Given the description of an element on the screen output the (x, y) to click on. 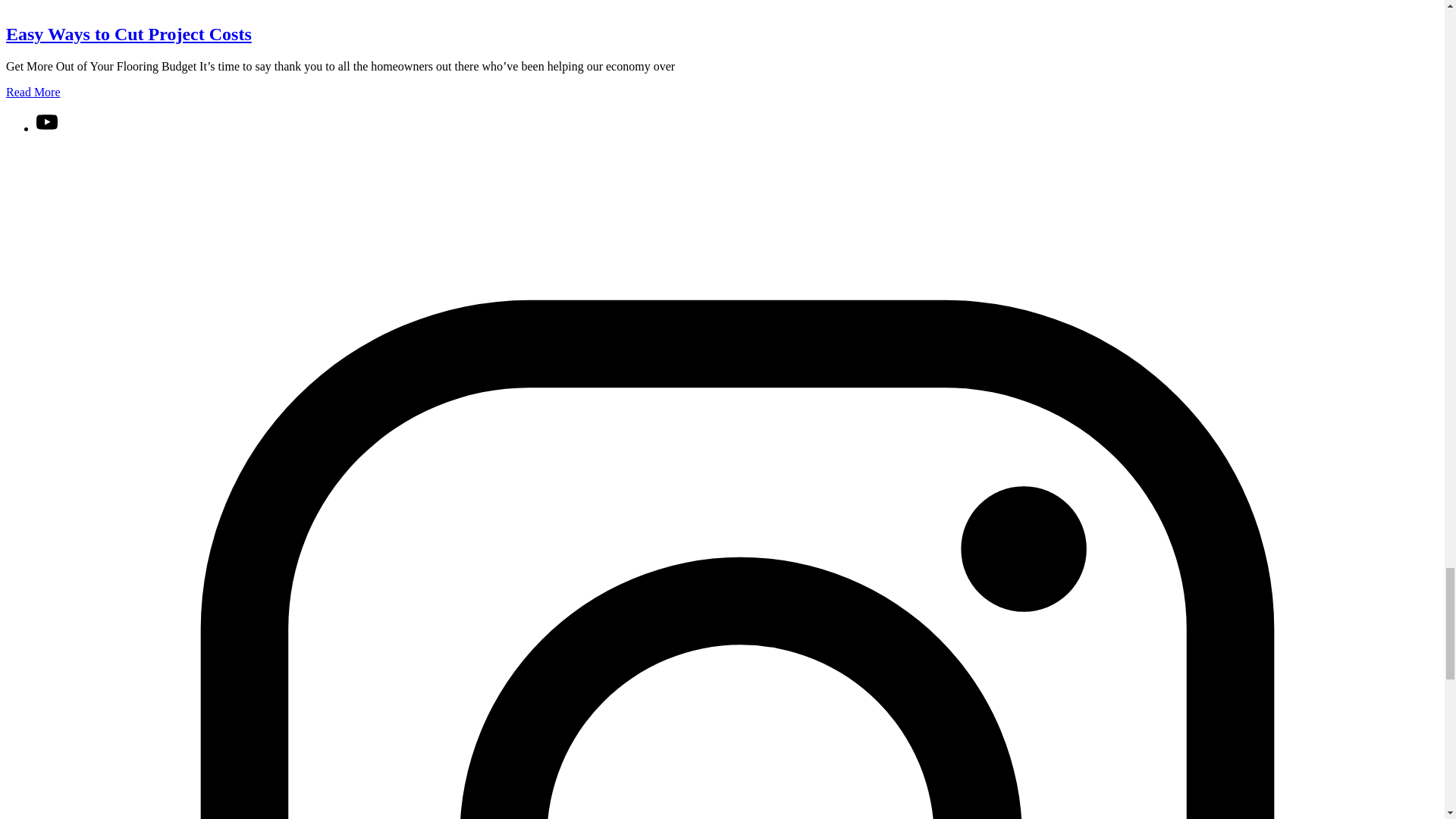
Easy Ways to Cut Project Costs (128, 34)
youtube-play (47, 121)
Read More (33, 91)
youtube-play (47, 128)
